Given the description of an element on the screen output the (x, y) to click on. 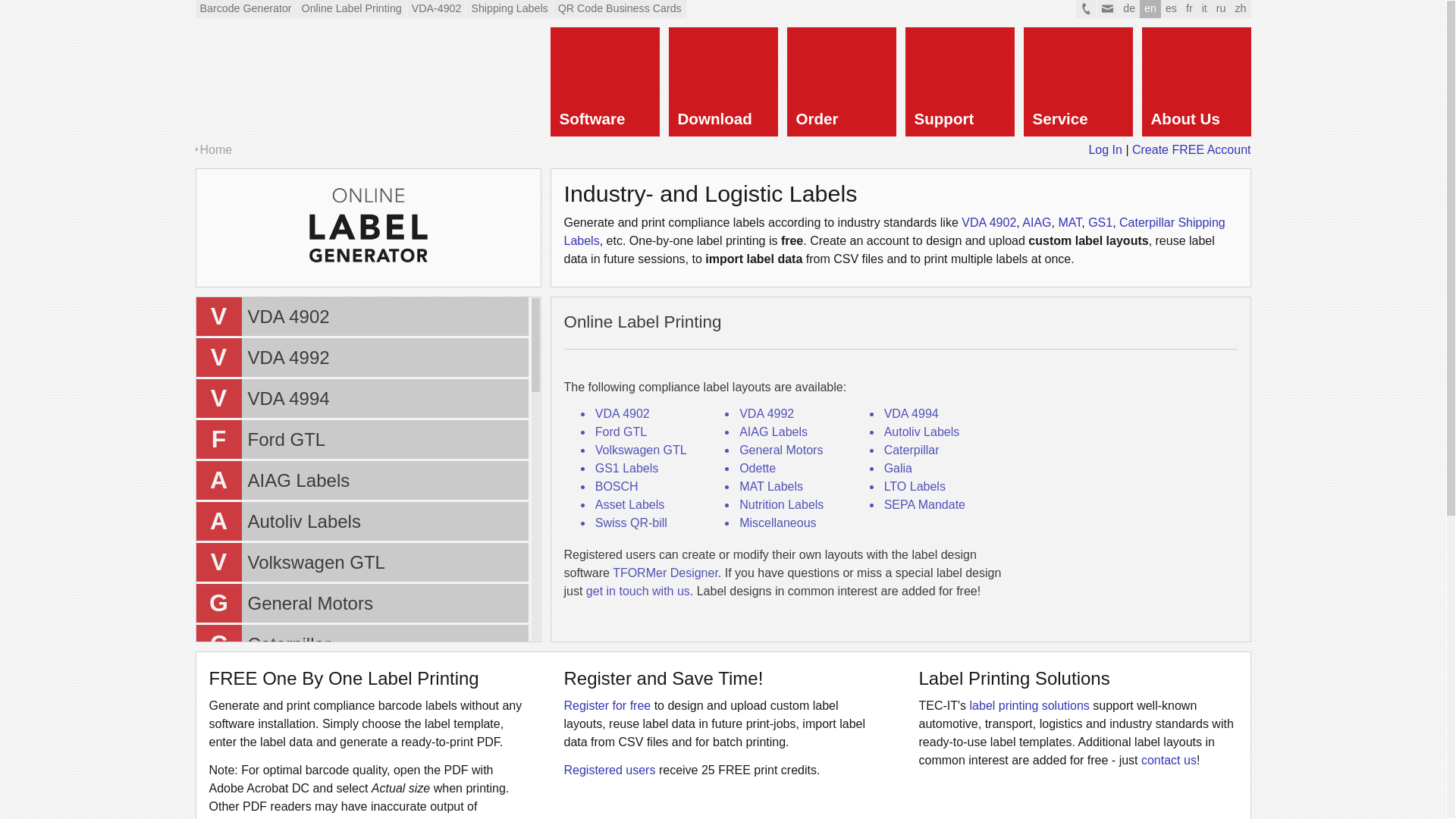
Home (216, 149)
ru (1220, 9)
Support (959, 81)
Online VDA-4902 Label Generator (361, 316)
Barcode Software and More... (361, 357)
de (436, 9)
Free Online Barcode Generator (427, 81)
Service (1129, 9)
About Us (246, 9)
zh (1077, 81)
es (1195, 81)
